Given the description of an element on the screen output the (x, y) to click on. 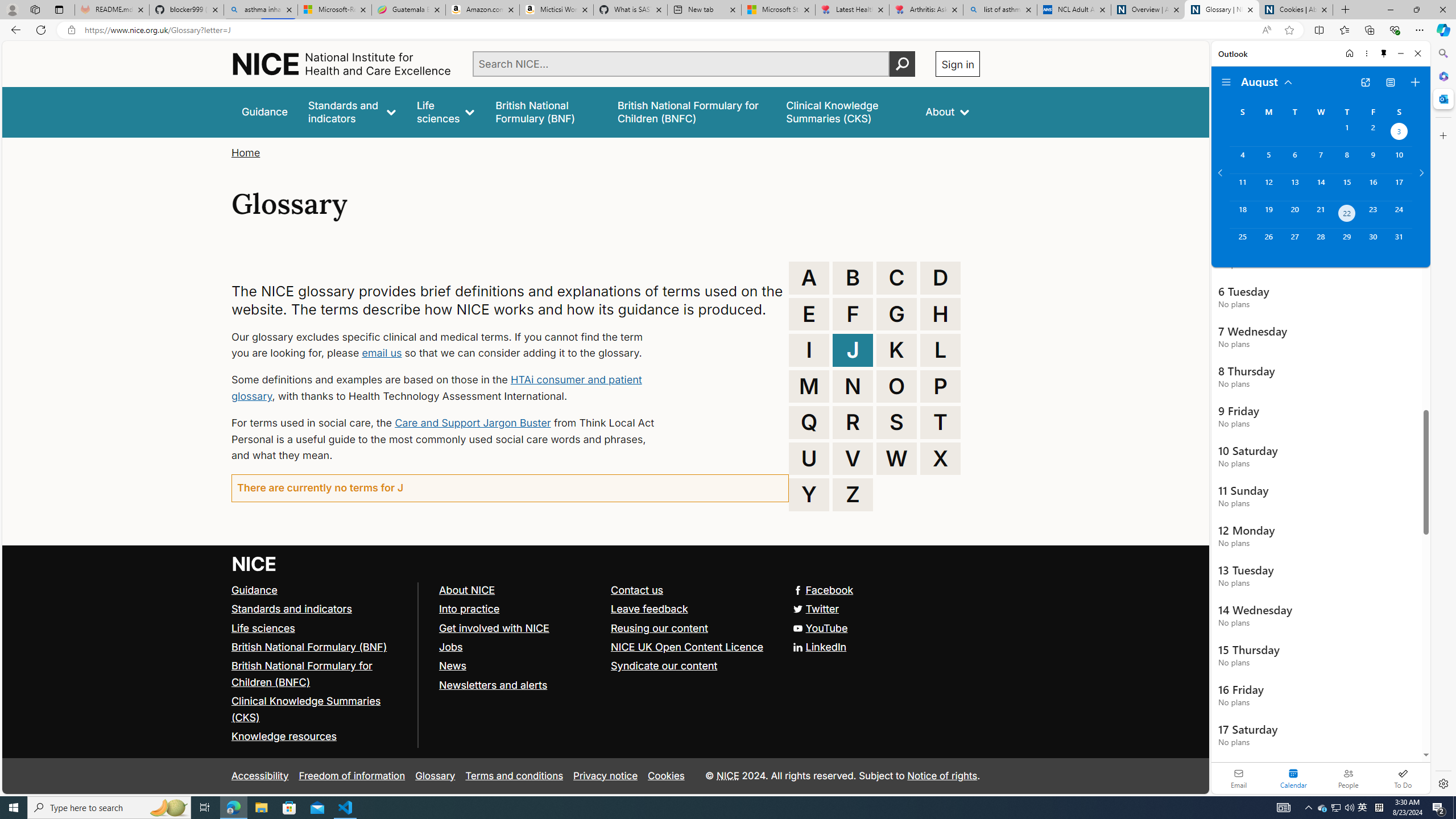
O (896, 385)
Syndicate our content (664, 666)
G (896, 313)
Reusing our content (659, 627)
Monday, August 12, 2024.  (1268, 186)
W (896, 458)
Cookies | About | NICE (1295, 9)
M (809, 385)
X (940, 458)
S (896, 422)
